Given the description of an element on the screen output the (x, y) to click on. 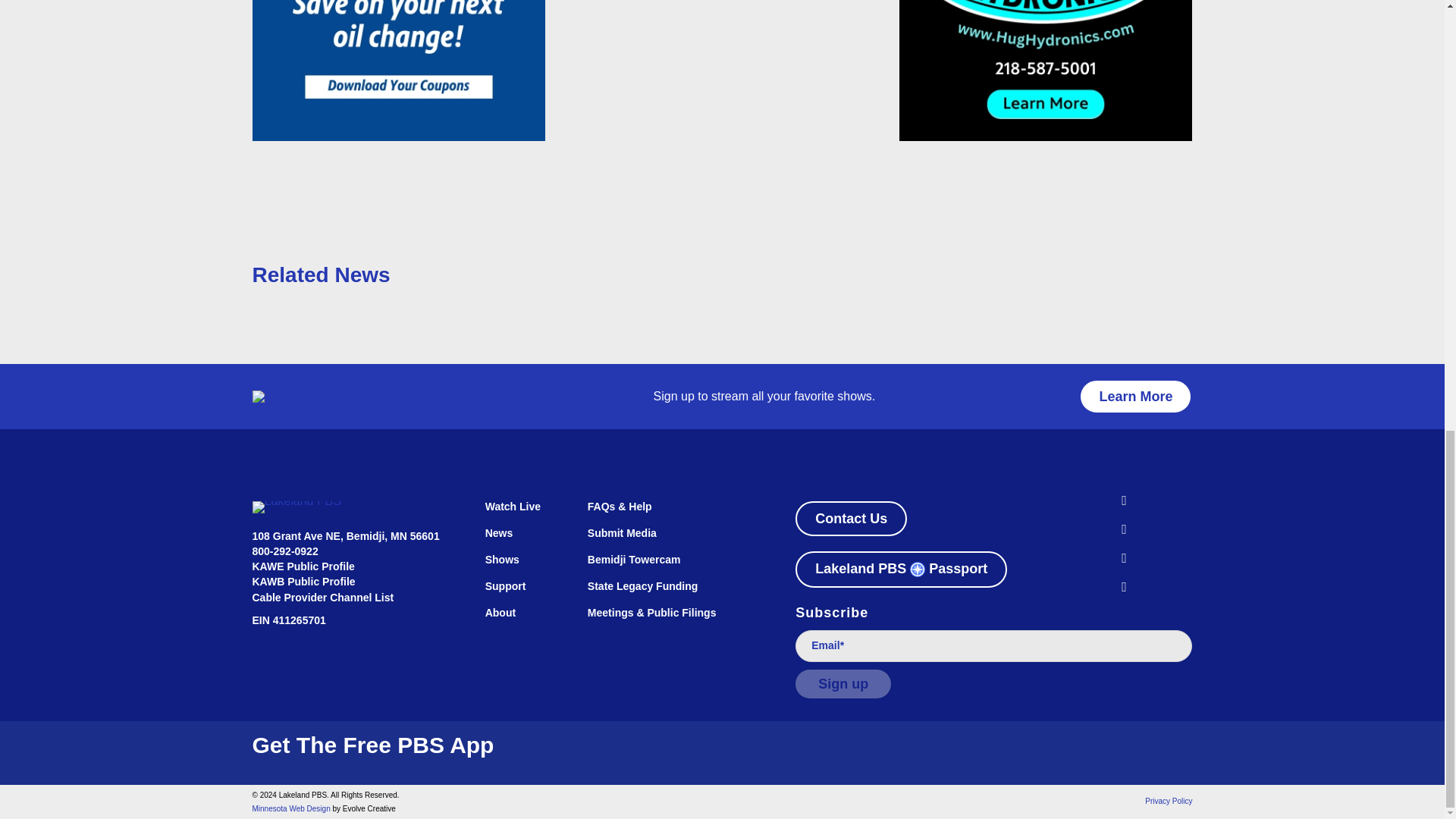
KAWE Public Profile (302, 566)
Cable Provider Channel List (322, 597)
KAWB Public Profile (303, 581)
800-292-0922 (284, 551)
KAWE Public Profile (302, 566)
Submit Media (674, 540)
Learn More (1135, 396)
KAWB Public Profile (303, 581)
Watch Live (520, 514)
News (520, 540)
Support (520, 593)
Cable Provider Channel List (322, 597)
About (520, 620)
Sign up (842, 683)
Call Us Today (284, 551)
